Given the description of an element on the screen output the (x, y) to click on. 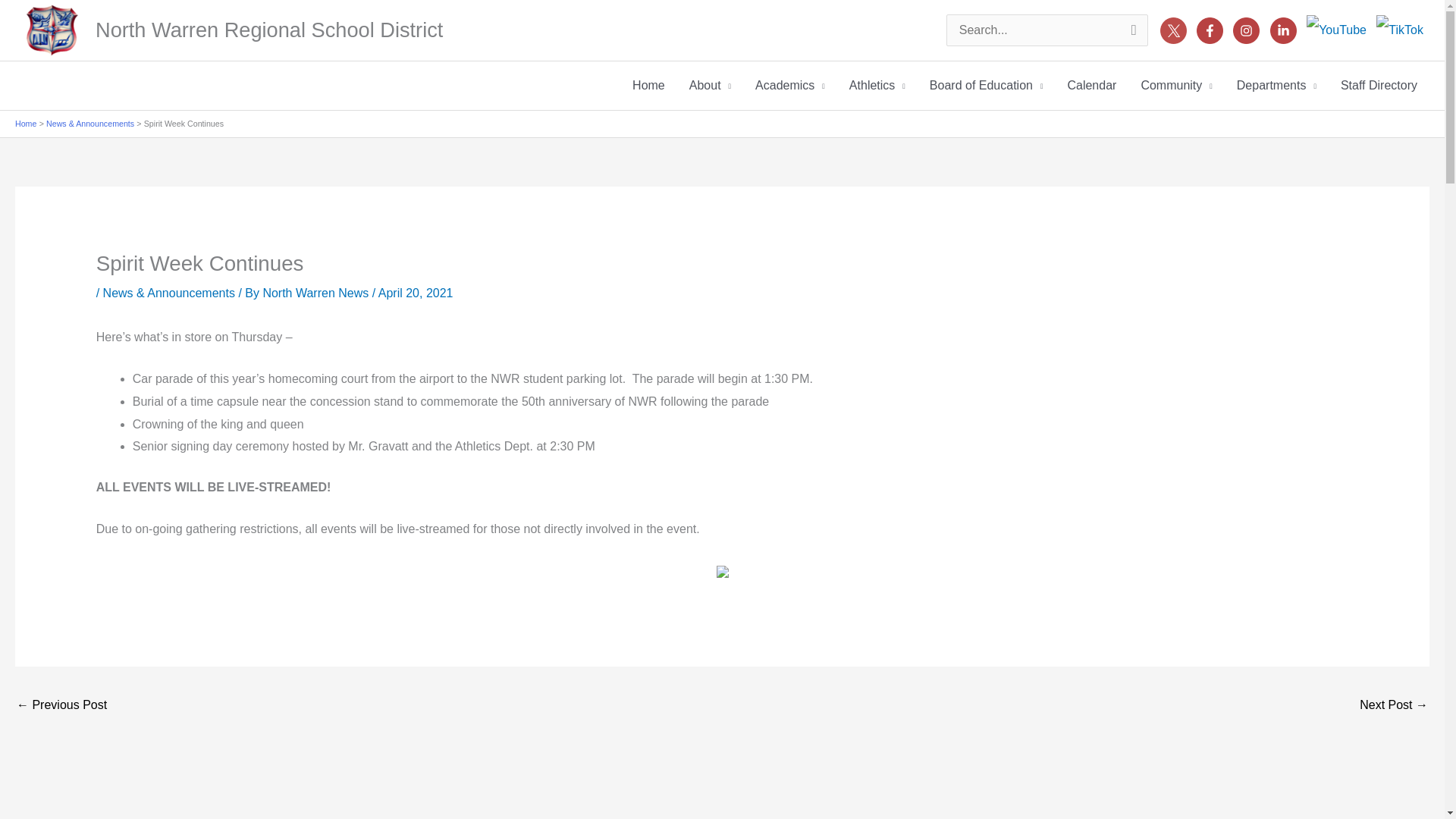
LinkedIn (1283, 30)
YouTube (1336, 30)
NWR Spring Musical "Emma" (1393, 706)
Home (648, 85)
Twitter (1173, 30)
Facebook (1209, 30)
View all posts by North Warren News (316, 292)
FREE Mammogram Event (61, 706)
Academics (789, 85)
TikTok (1399, 30)
